Given the description of an element on the screen output the (x, y) to click on. 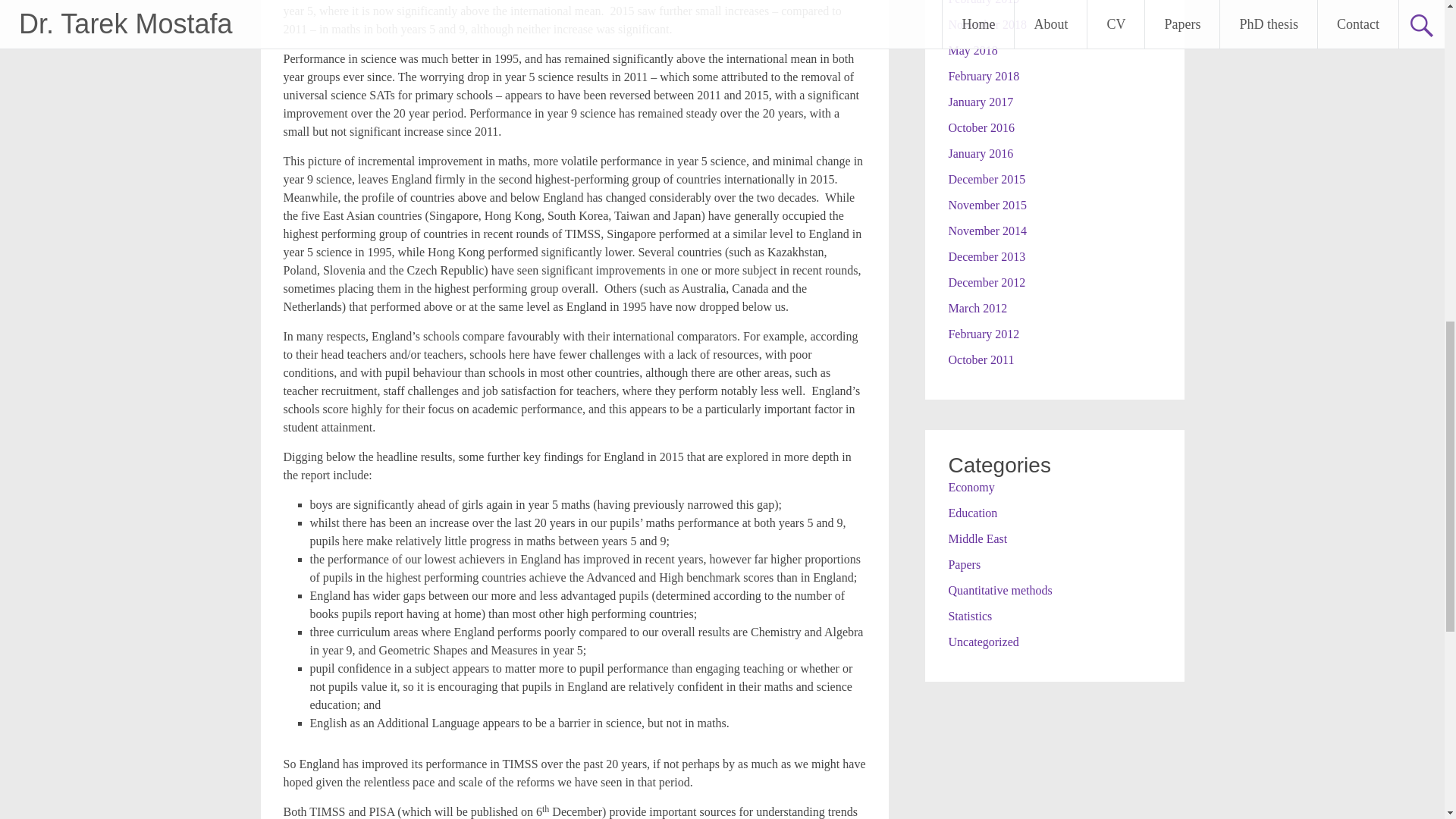
February 2019 (983, 2)
May 2018 (972, 50)
November 2014 (986, 230)
October 2016 (980, 127)
February 2018 (983, 75)
January 2017 (980, 101)
November 2015 (986, 205)
November 2018 (986, 24)
January 2016 (980, 153)
December 2013 (986, 256)
